Given the description of an element on the screen output the (x, y) to click on. 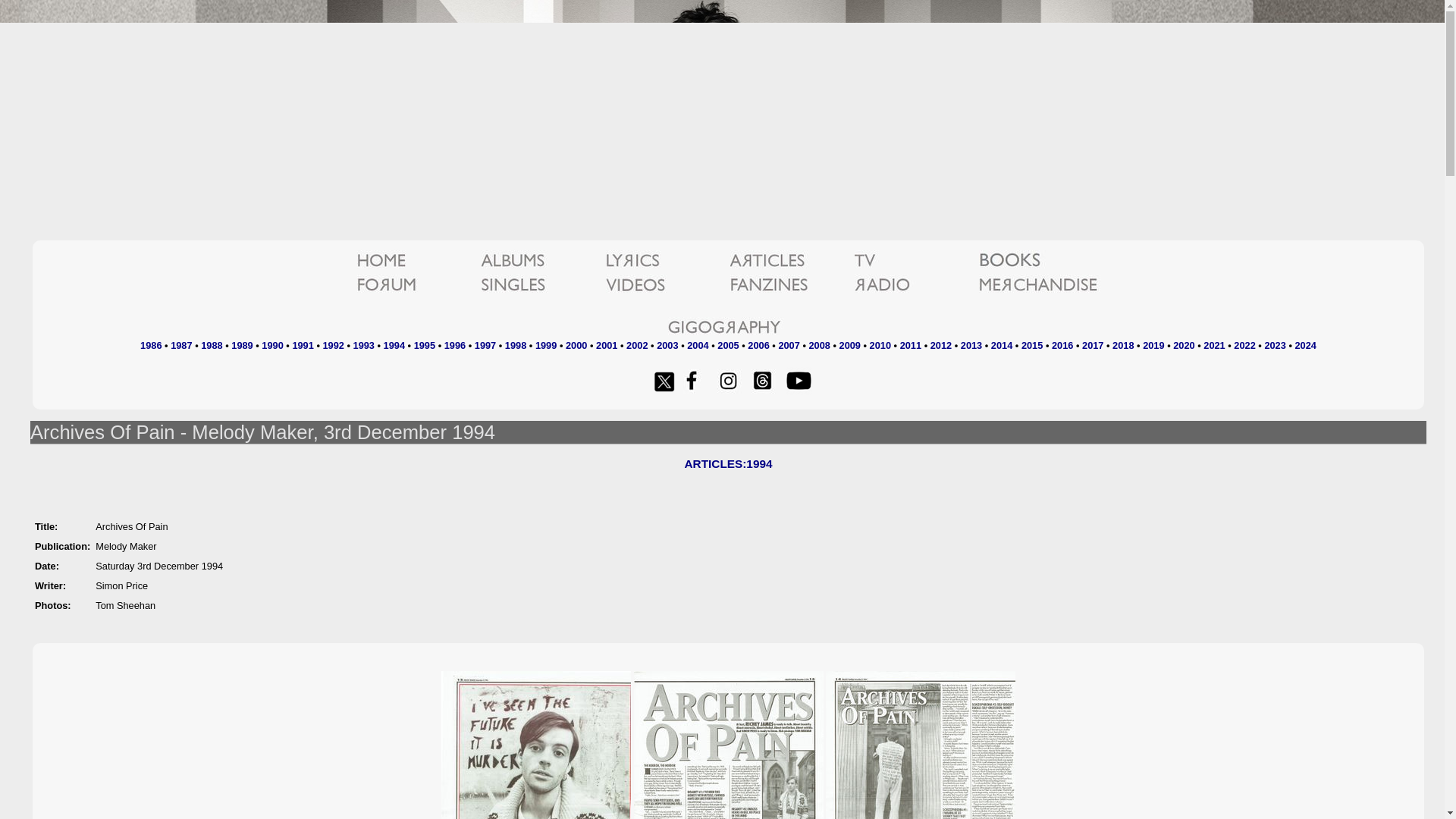
2008 (818, 345)
1991 (302, 345)
1994 (394, 345)
2005 (727, 345)
2012 (941, 345)
1986 (150, 345)
Lyrics (665, 260)
2004 (697, 345)
2001 (606, 345)
Videography (665, 284)
2011 (910, 345)
1987 (181, 345)
Radio (914, 284)
2002 (636, 345)
TV (914, 260)
